Given the description of an element on the screen output the (x, y) to click on. 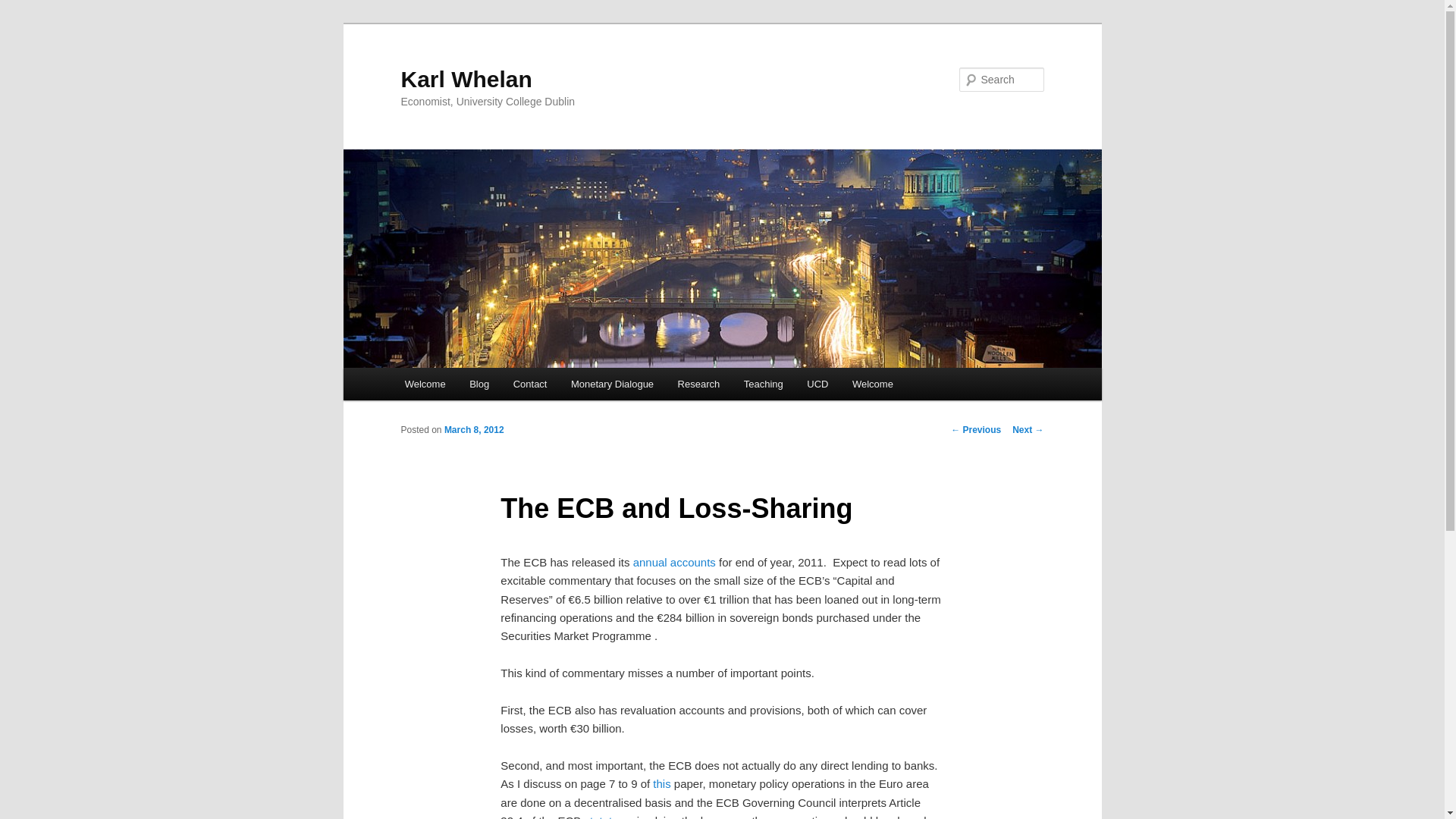
Blog (478, 383)
Karl Whelan (465, 78)
Monetary Dialogue (612, 383)
Welcome (425, 383)
6:20 pm (473, 429)
this (660, 783)
Welcome (872, 383)
Search (24, 8)
statute (600, 816)
March 8, 2012 (473, 429)
UCD (817, 383)
Skip to primary content (472, 386)
Teaching (763, 383)
annual accounts (674, 562)
Contact (529, 383)
